Given the description of an element on the screen output the (x, y) to click on. 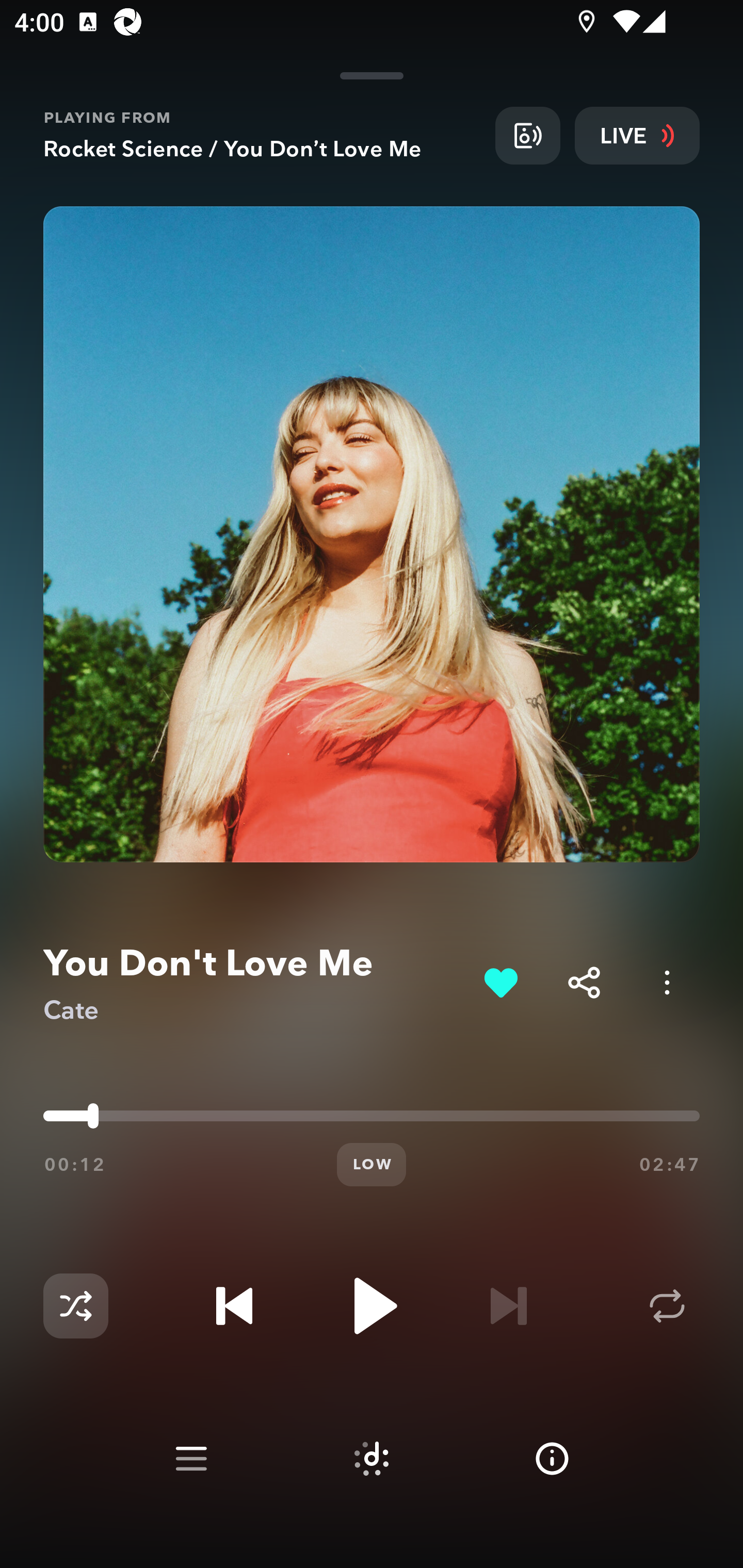
Broadcast (527, 135)
LIVE (637, 135)
PLAYING FROM Rocket Science / You Don’t Love Me (261, 135)
You Don't Love Me Cate (255, 983)
Remove from My Collection (500, 982)
Share (583, 982)
Options (666, 982)
LOW (371, 1164)
Play (371, 1306)
Previous (234, 1306)
Next (508, 1306)
Shuffle enabled (75, 1306)
Repeat Off (666, 1306)
Play queue (191, 1458)
Suggested tracks (371, 1458)
Info (551, 1458)
